Given the description of an element on the screen output the (x, y) to click on. 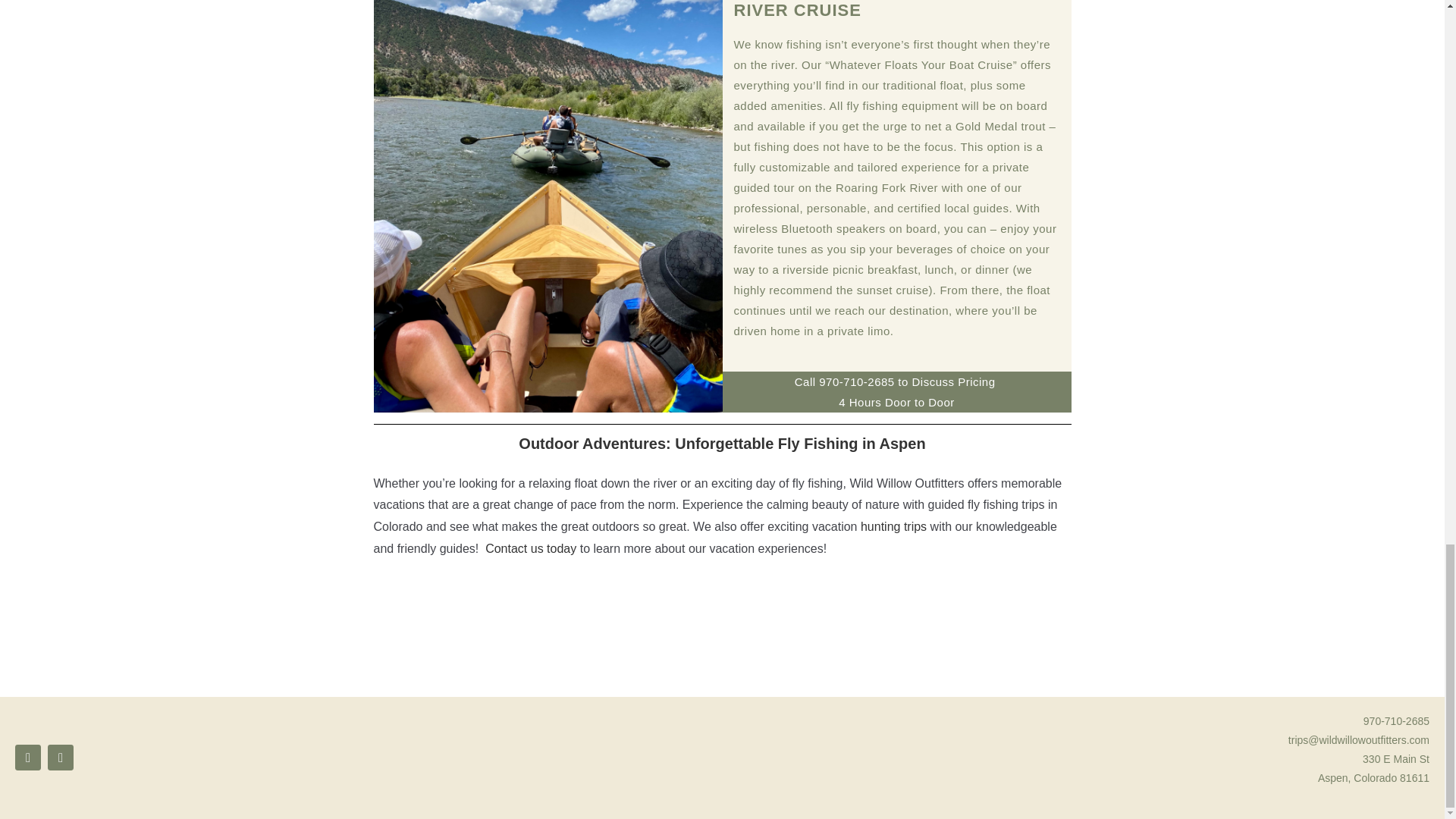
hunting trips (893, 526)
Contact us today (530, 548)
